Given the description of an element on the screen output the (x, y) to click on. 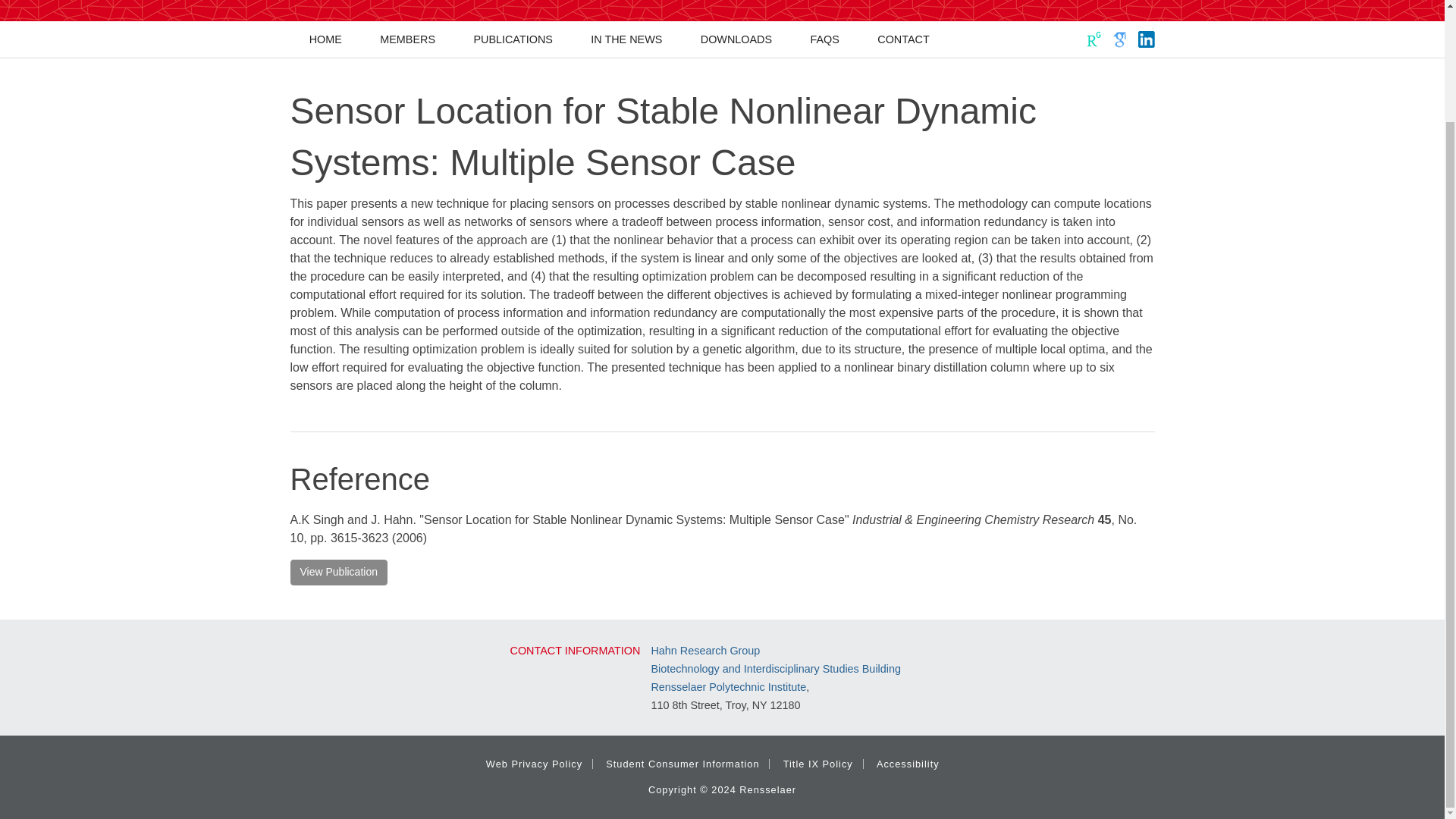
Hahn Research Group LinkedIn (1145, 38)
HOME (325, 39)
View Publication (338, 572)
Accessibility (907, 763)
CONTACT (904, 39)
PUBLICATIONS (513, 39)
Biotechnology and Interdisciplinary Studies Building (775, 668)
MEMBERS (407, 39)
FAQS (824, 39)
Title IX Policy (818, 763)
DOWNLOADS (736, 39)
Hahn Research Group ResearchGate (1094, 38)
Hahn Research Group Google Scholar (1120, 38)
Web Privacy Policy (534, 763)
IN THE NEWS (626, 39)
